Given the description of an element on the screen output the (x, y) to click on. 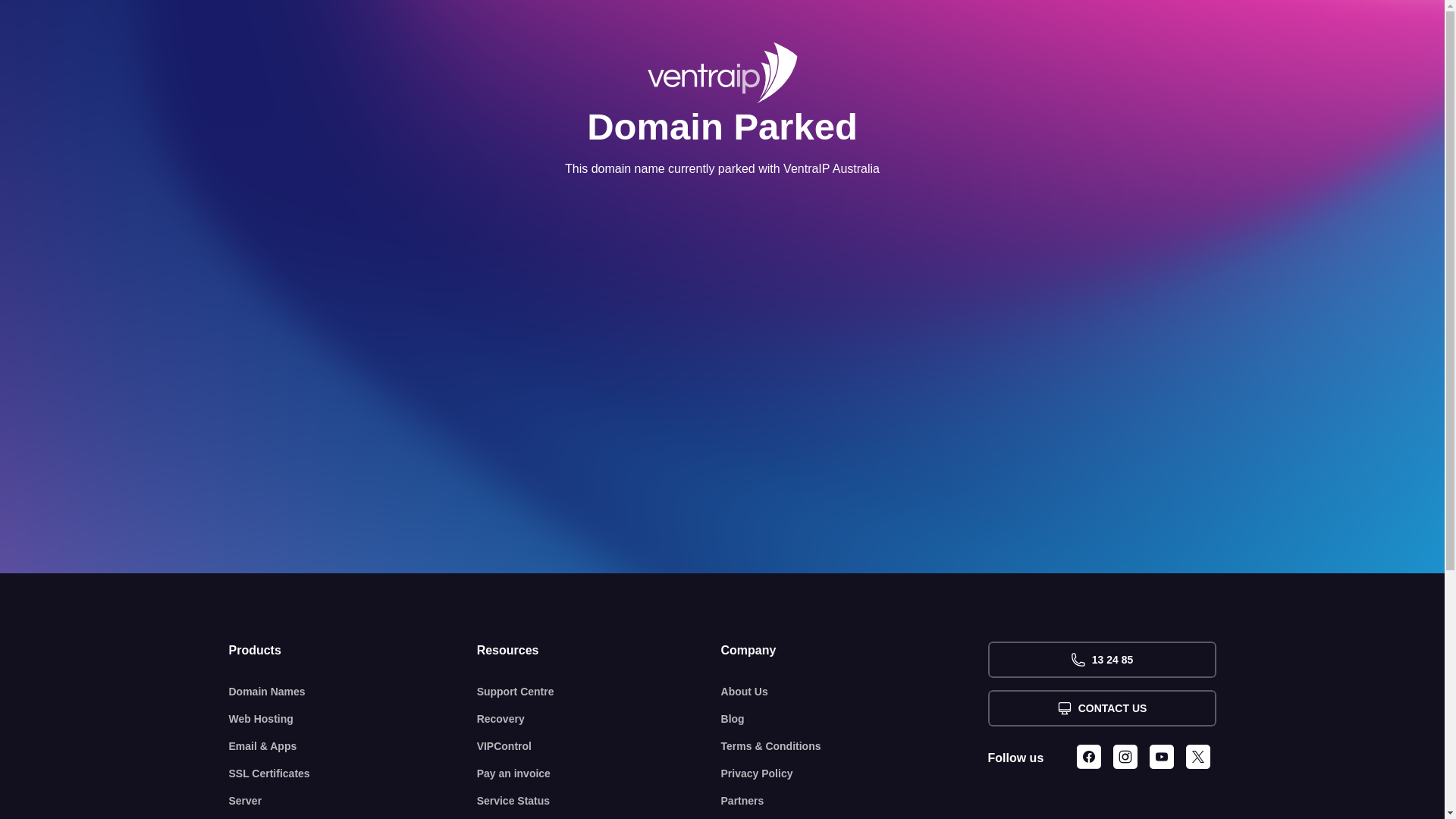
Service Status Element type: text (598, 800)
Pay an invoice Element type: text (598, 773)
Web Hosting Element type: text (352, 718)
Terms & Conditions Element type: text (854, 745)
SSL Certificates Element type: text (352, 773)
Email & Apps Element type: text (352, 745)
Privacy Policy Element type: text (854, 773)
13 24 85 Element type: text (1101, 659)
VIPControl Element type: text (598, 745)
Recovery Element type: text (598, 718)
Partners Element type: text (854, 800)
Server Element type: text (352, 800)
Blog Element type: text (854, 718)
About Us Element type: text (854, 691)
Support Centre Element type: text (598, 691)
Domain Names Element type: text (352, 691)
CONTACT US Element type: text (1101, 708)
